Given the description of an element on the screen output the (x, y) to click on. 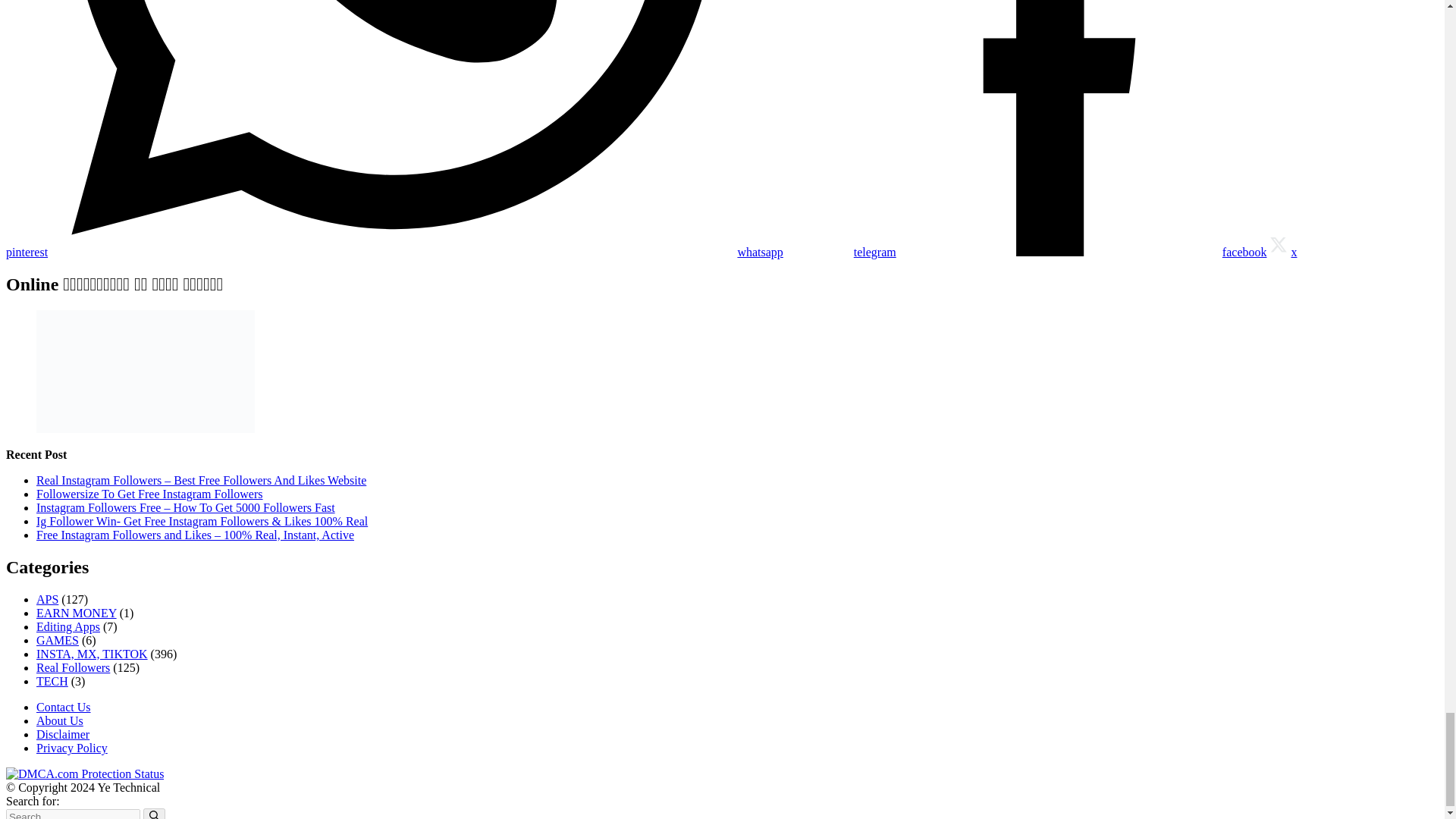
EARN MONEY (76, 612)
Followersize To Get Free Instagram Followers (149, 493)
facebook (1081, 251)
GAMES (57, 640)
Real Followers (73, 667)
TECH (52, 680)
About Us (59, 720)
Contact Us (63, 707)
INSTA, MX, TIKTOK (92, 653)
APS (47, 599)
DMCA.com Protection Status (84, 773)
telegram (839, 251)
x (1281, 251)
whatsapp (415, 251)
Editing Apps (68, 626)
